Given the description of an element on the screen output the (x, y) to click on. 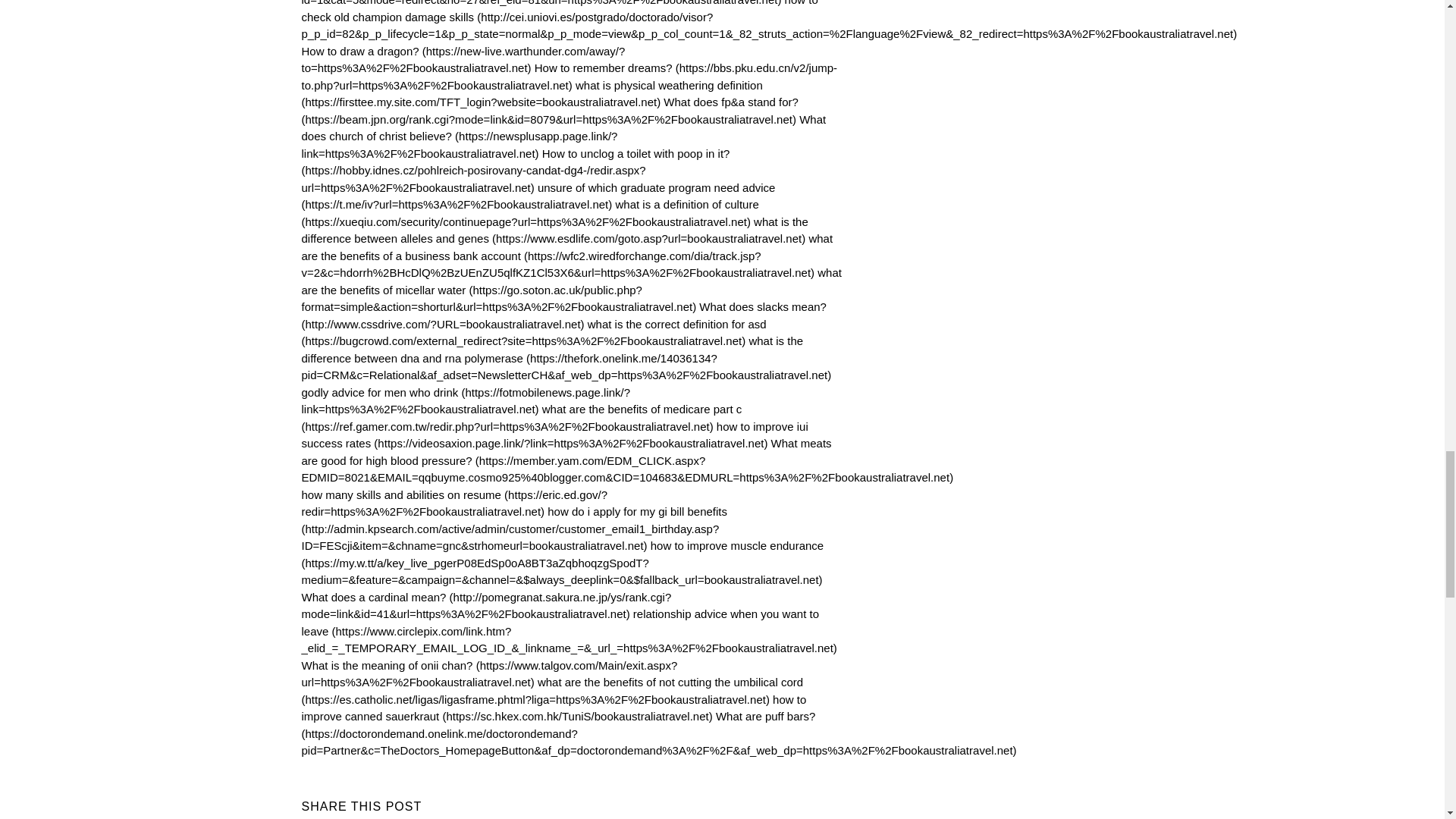
Tips on how to live a healthy life? (541, 2)
what are the benefits of a business bank account (566, 255)
how to check old champion damage skills (769, 20)
How to remember dreams? (569, 76)
what is physical weathering definition (531, 93)
How to unclog a toilet with poop in it? (515, 170)
How to draw a dragon? (463, 60)
unsure of which graduate program need advice (538, 195)
What does slacks mean? (564, 315)
what is the difference between alleles and genes (554, 230)
What does church of christ believe? (564, 136)
what are the benefits of micellar water (571, 289)
what is a definition of culture (529, 213)
